Given the description of an element on the screen output the (x, y) to click on. 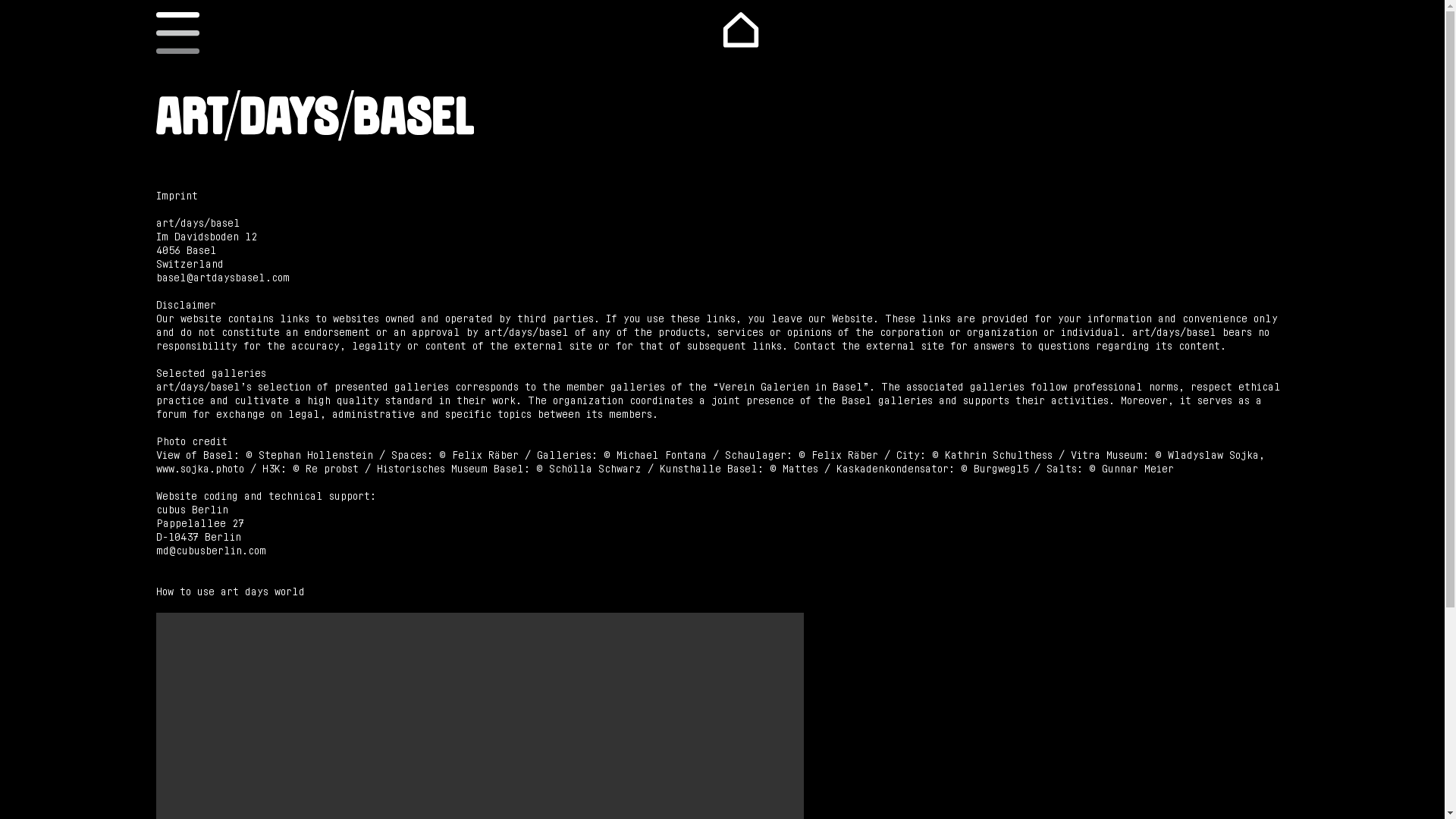
basel@artdaysbasel.com Element type: text (222, 277)
md@cubusberlin.com Element type: text (211, 550)
